Given the description of an element on the screen output the (x, y) to click on. 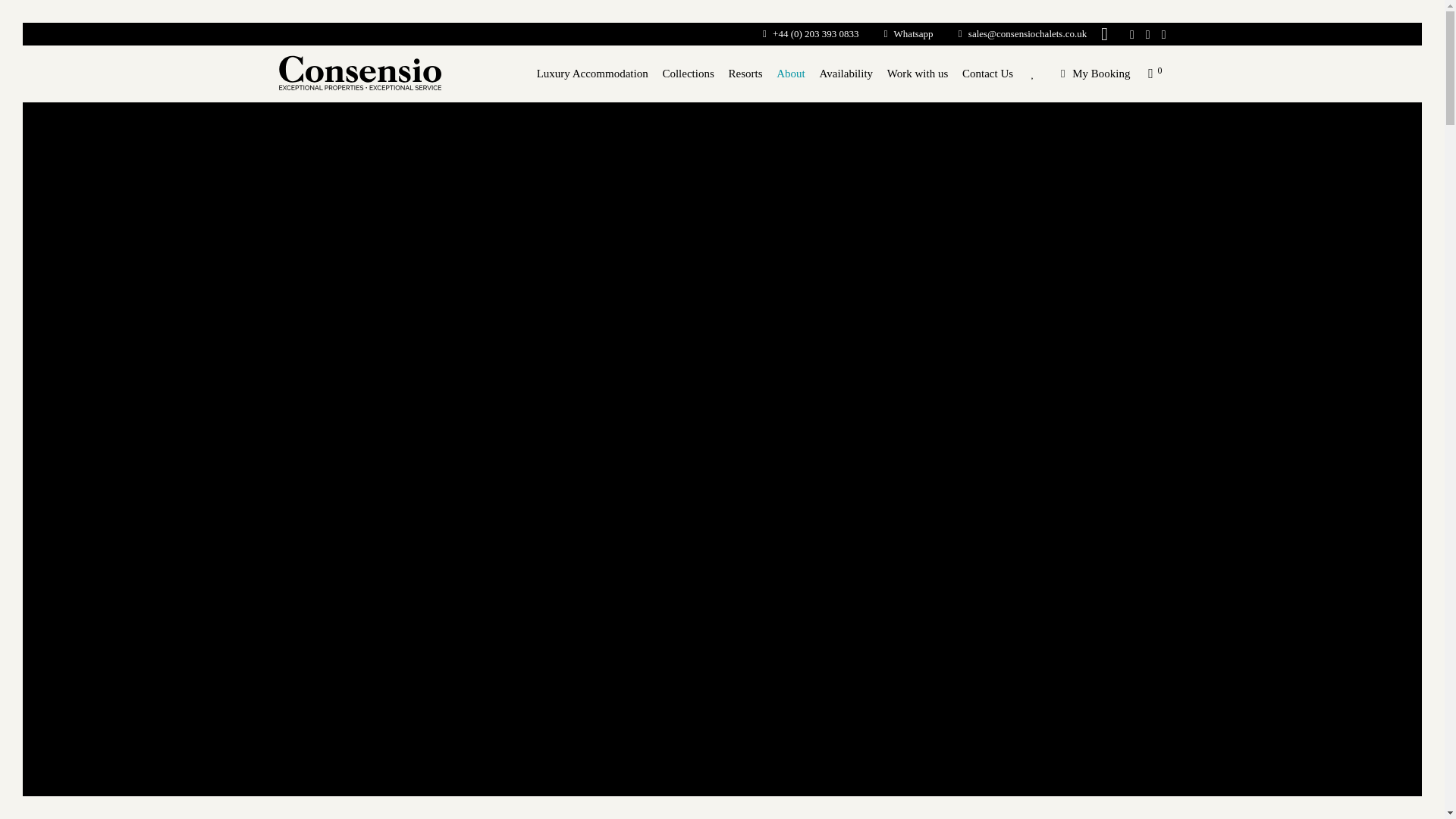
Luxury Accommodation (591, 73)
Whatsapp (897, 33)
Collections (688, 73)
